Given the description of an element on the screen output the (x, y) to click on. 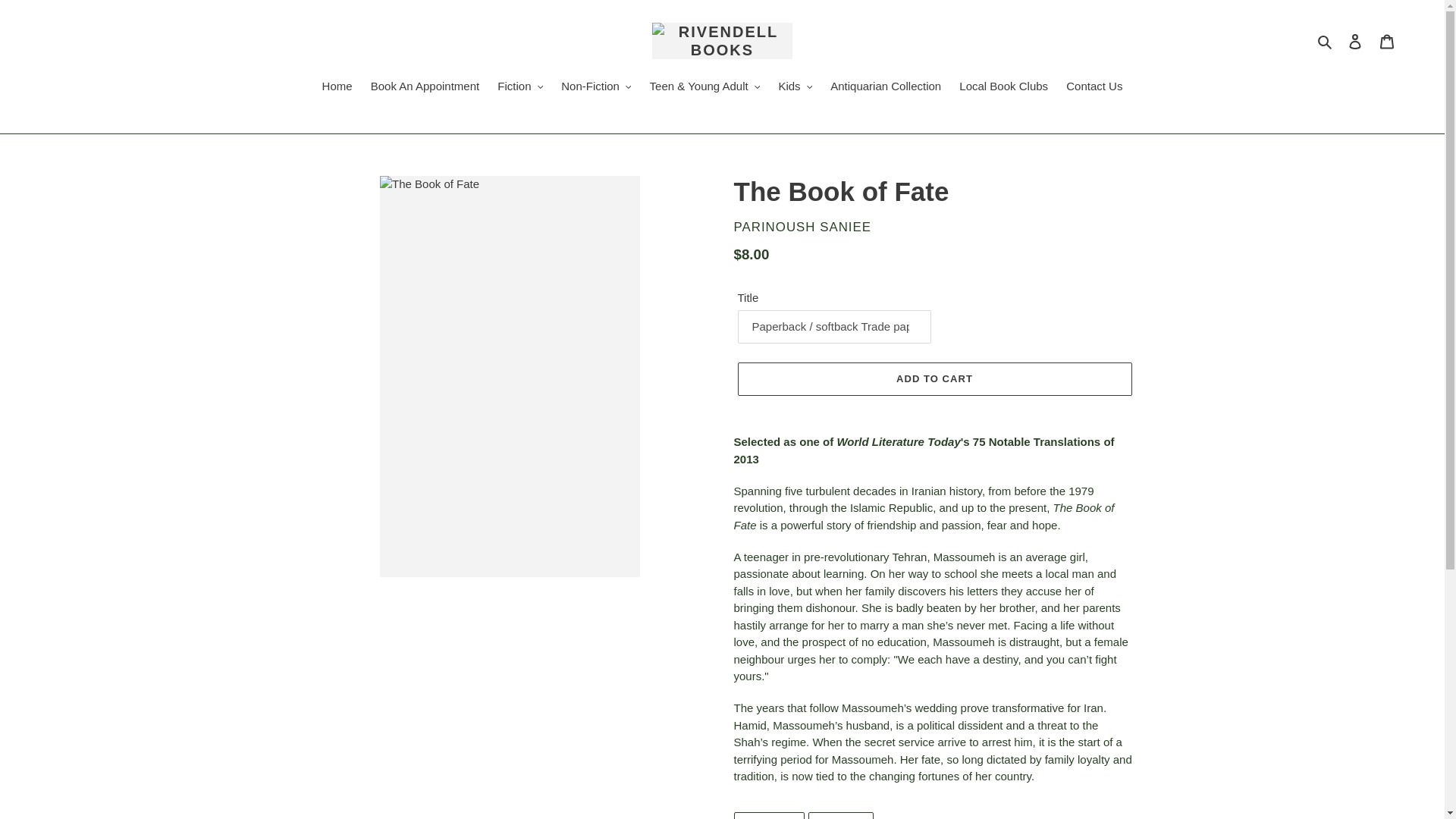
Log in (1355, 41)
Cart (1387, 41)
Search (1326, 40)
